Given the description of an element on the screen output the (x, y) to click on. 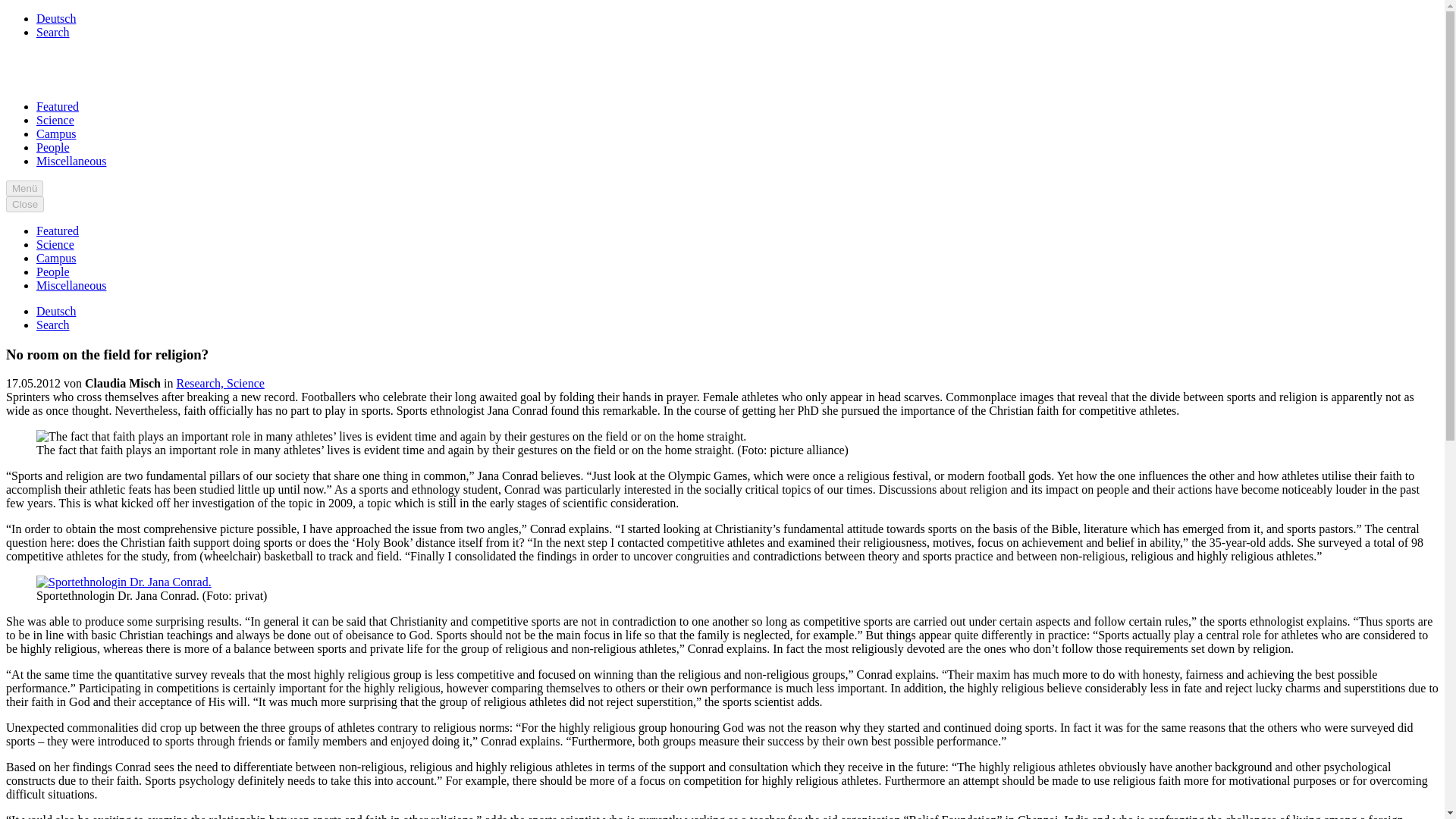
Search (52, 31)
Deutsch (55, 18)
Close (24, 204)
Science (245, 382)
Miscellaneous (71, 285)
Miscellaneous (71, 160)
Featured (57, 106)
Campus (55, 257)
Research, (201, 382)
Campus (55, 133)
